Given the description of an element on the screen output the (x, y) to click on. 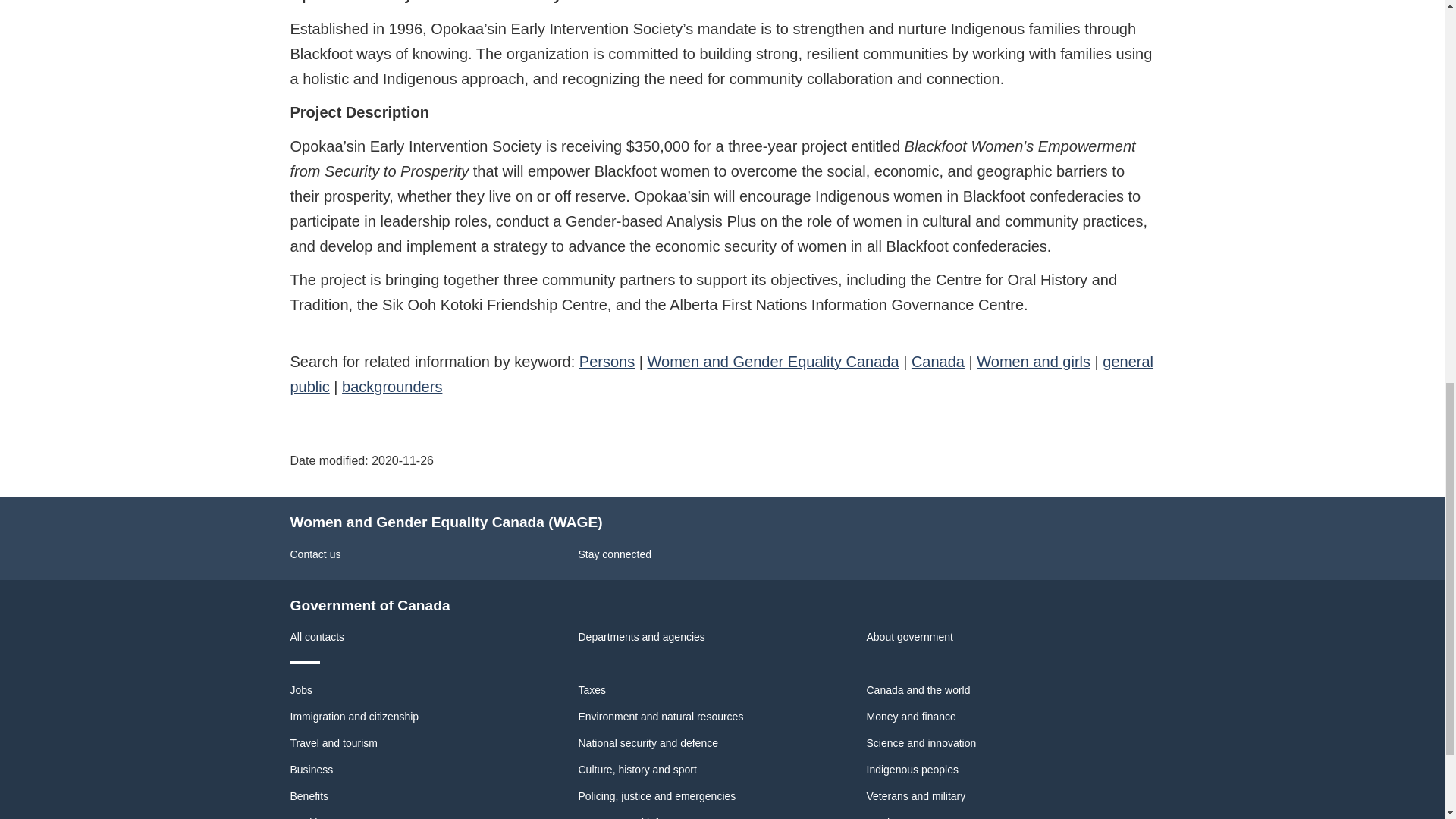
Stay connected (614, 553)
backgrounders (392, 386)
Travel and tourism (333, 743)
Persons (606, 361)
About government (909, 636)
Women and Gender Equality Canada (773, 361)
Business (311, 769)
Contact us (314, 553)
Departments and agencies (641, 636)
Immigration and citizenship (354, 716)
Women and girls (1033, 361)
All contacts (316, 636)
general public (721, 373)
Canada (937, 361)
Jobs (301, 689)
